Given the description of an element on the screen output the (x, y) to click on. 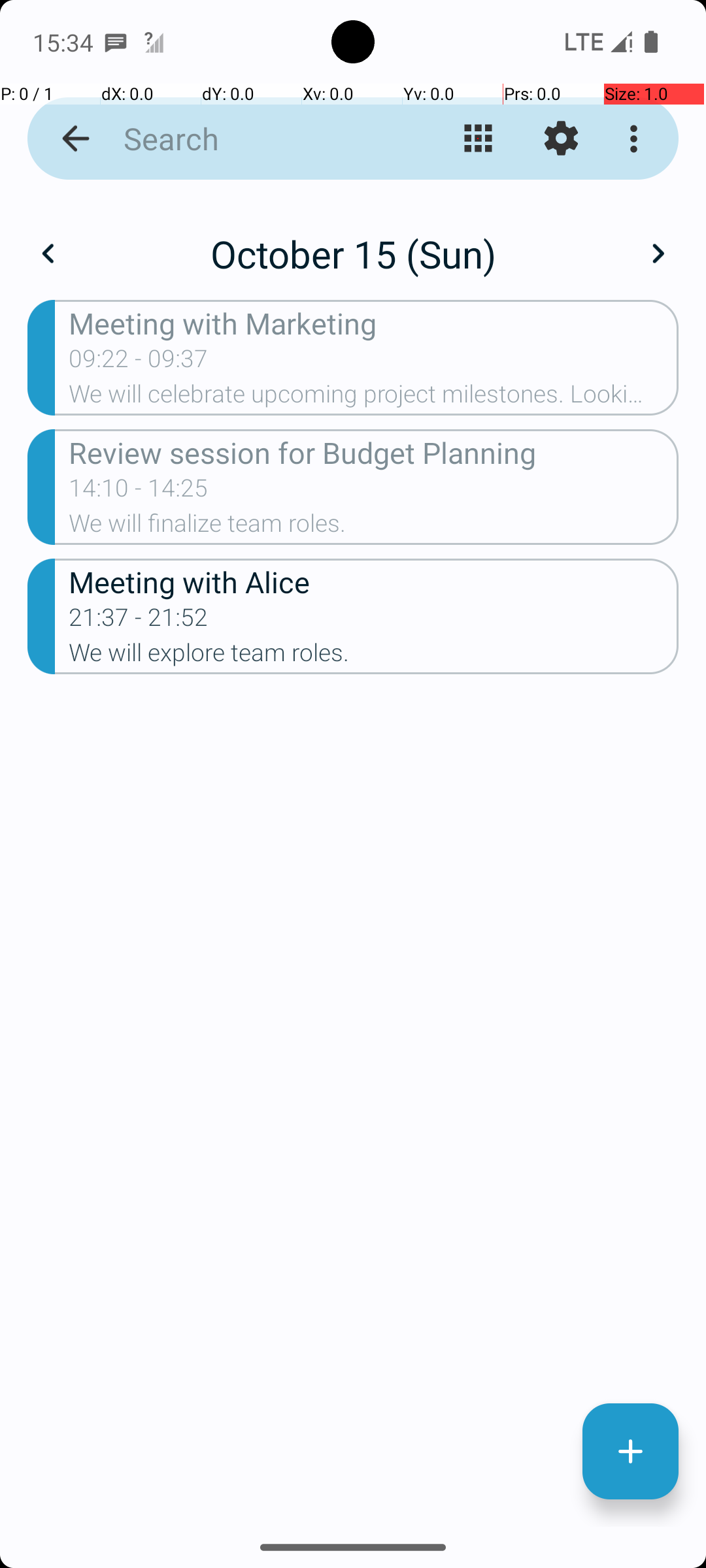
09:22 - 09:37 Element type: android.widget.TextView (137, 362)
We will celebrate upcoming project milestones. Looking forward to productive discussions. Element type: android.widget.TextView (373, 397)
14:10 - 14:25 Element type: android.widget.TextView (137, 491)
We will finalize team roles. Element type: android.widget.TextView (373, 526)
21:37 - 21:52 Element type: android.widget.TextView (137, 620)
We will explore team roles. Element type: android.widget.TextView (373, 656)
